Given the description of an element on the screen output the (x, y) to click on. 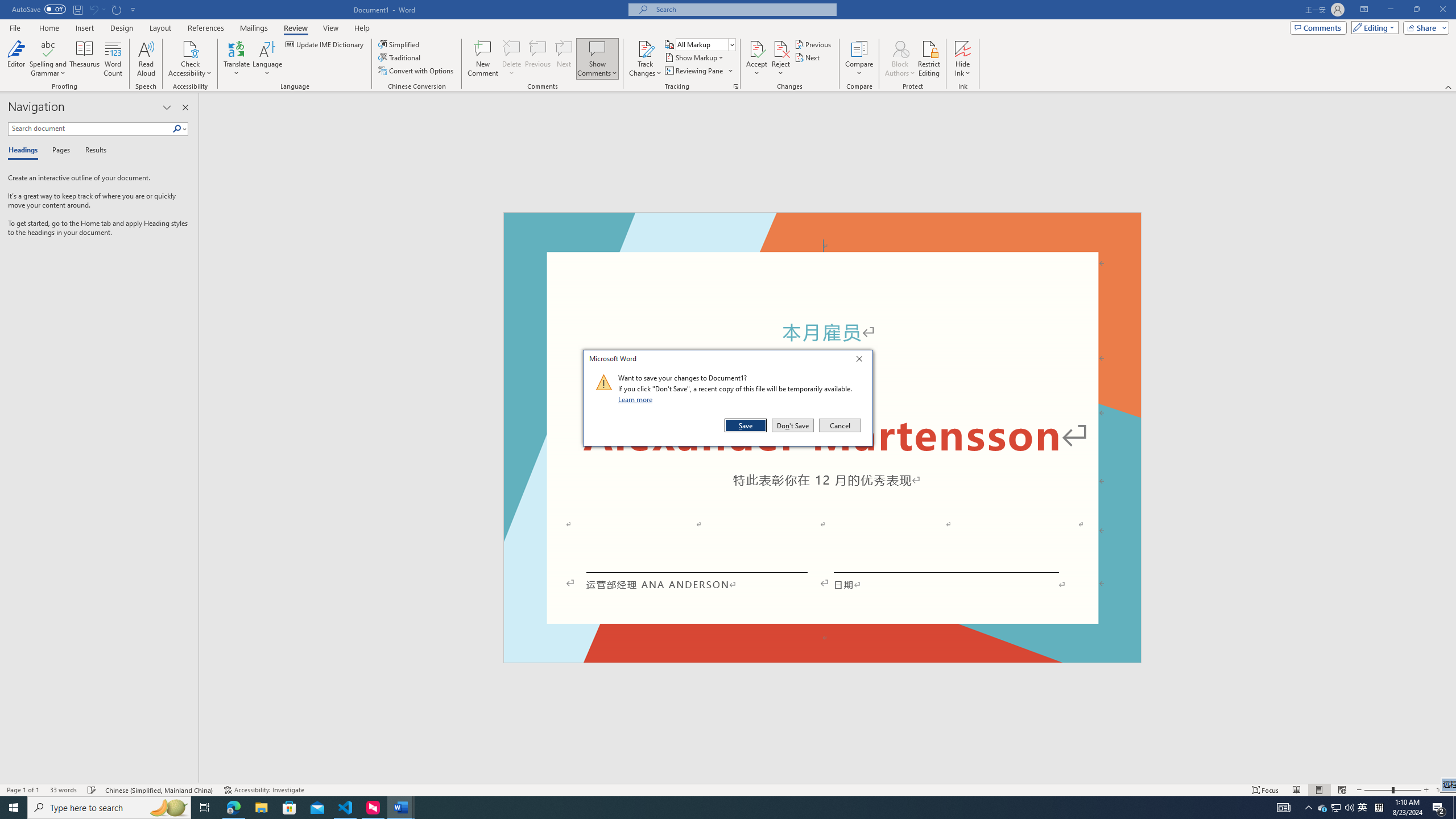
Spelling and Grammar (48, 58)
Reject (780, 58)
AutoSave (38, 9)
Traditional (400, 56)
Q2790: 100% (1349, 807)
Header -Section 1- (822, 225)
Print Layout (1318, 790)
Reviewing Pane (698, 69)
Cancel (839, 425)
Hide Ink (962, 48)
Footer -Section 1- (822, 657)
Quick Access Toolbar (74, 9)
Zoom Out (1377, 790)
Reviewing Pane (694, 69)
